Given the description of an element on the screen output the (x, y) to click on. 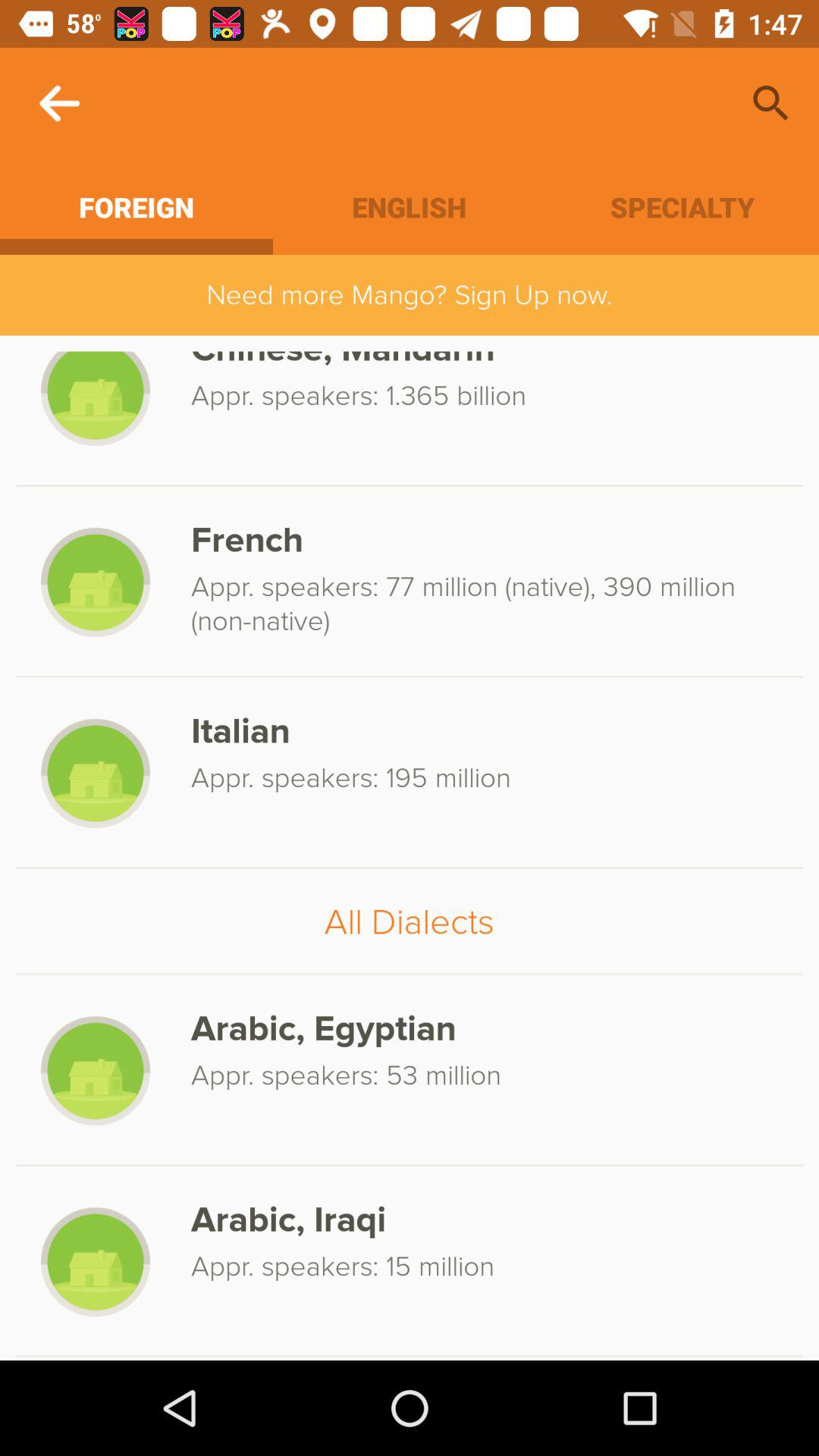
open icon above the specialty item (771, 103)
